Given the description of an element on the screen output the (x, y) to click on. 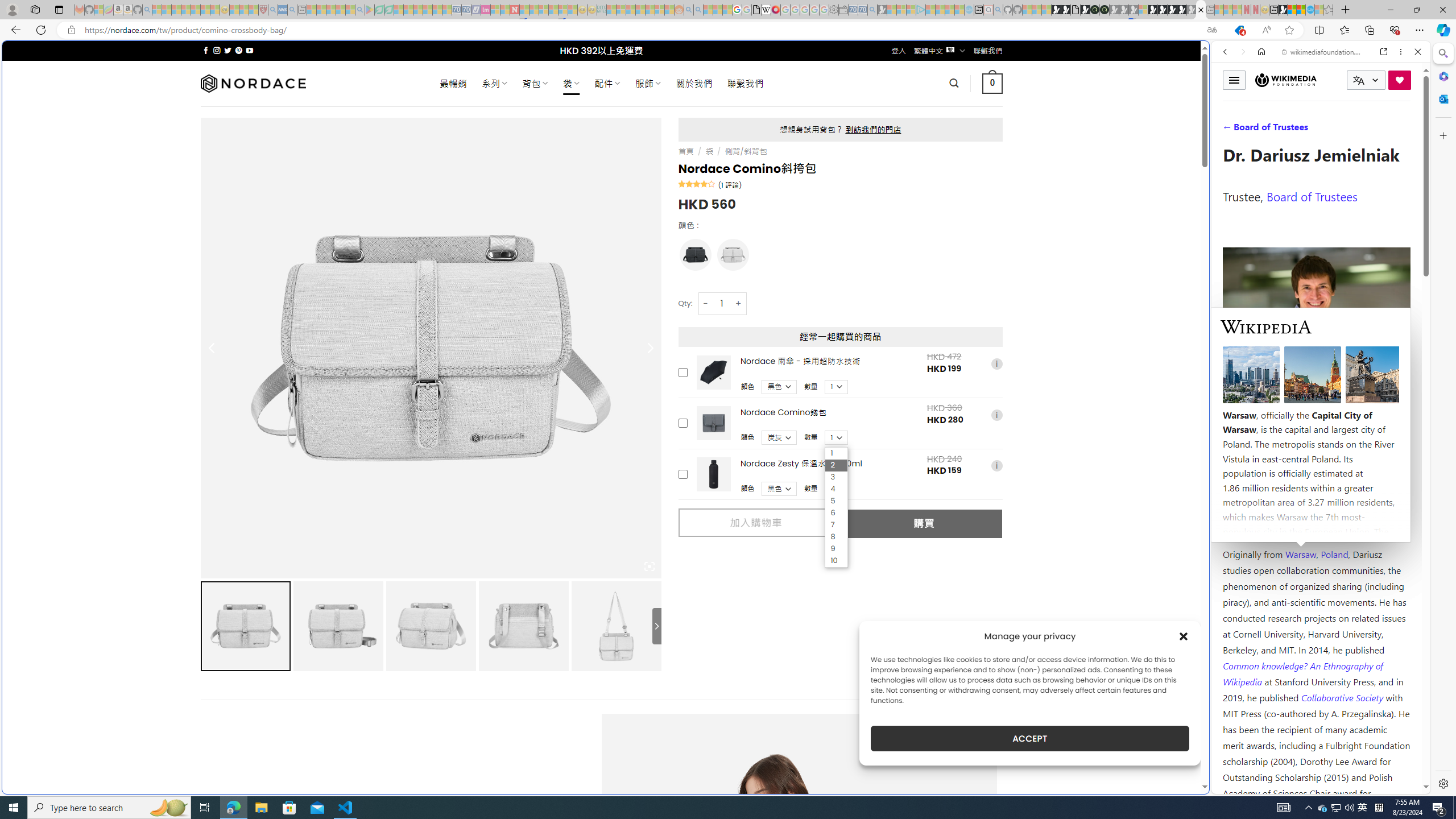
Common knowledge? An Ethnography of Wikipedia (1302, 672)
wikimediafoundation.org (1323, 51)
MediaWiki (774, 9)
